Given the description of an element on the screen output the (x, y) to click on. 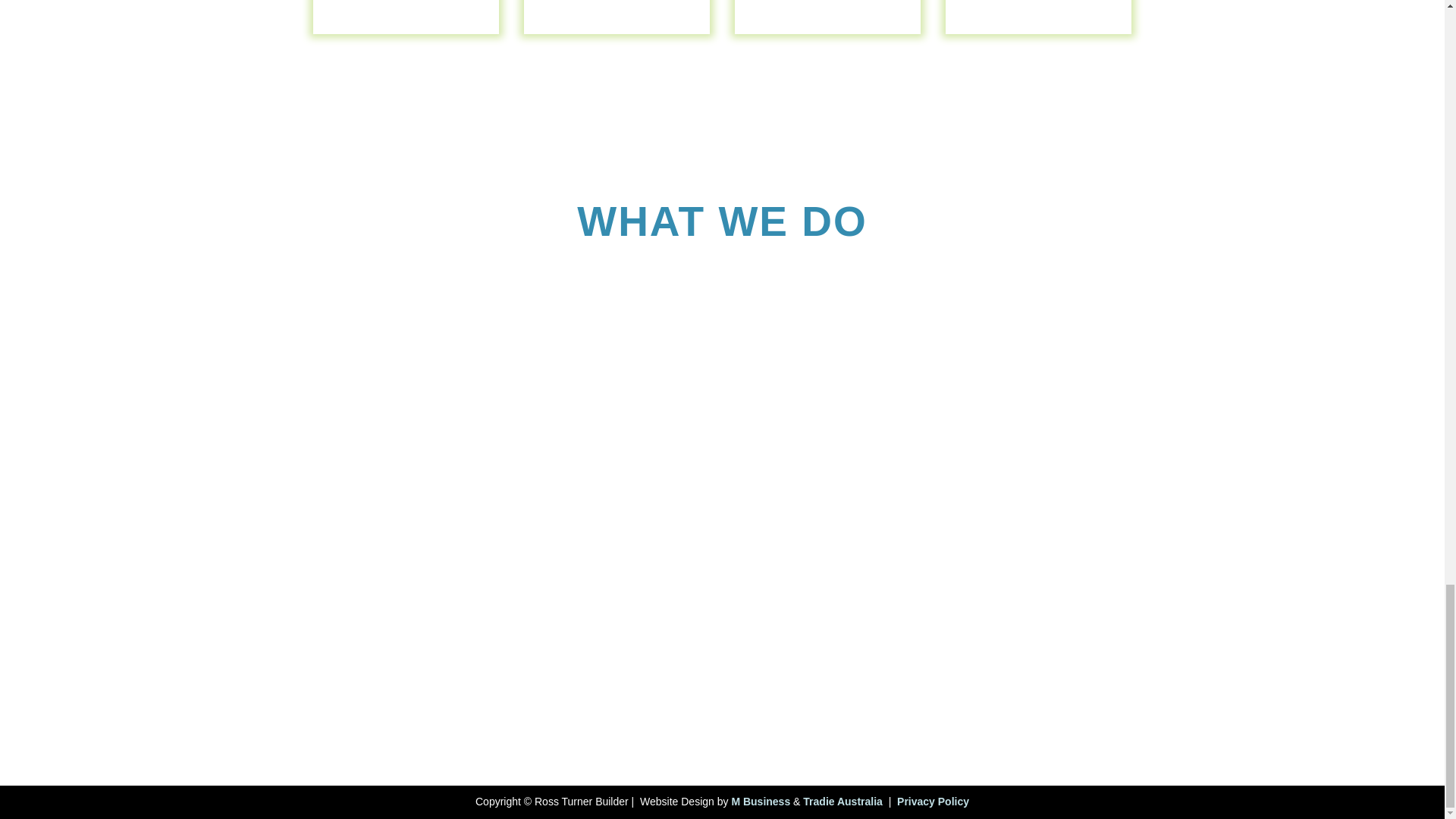
17 (406, 33)
